Given the description of an element on the screen output the (x, y) to click on. 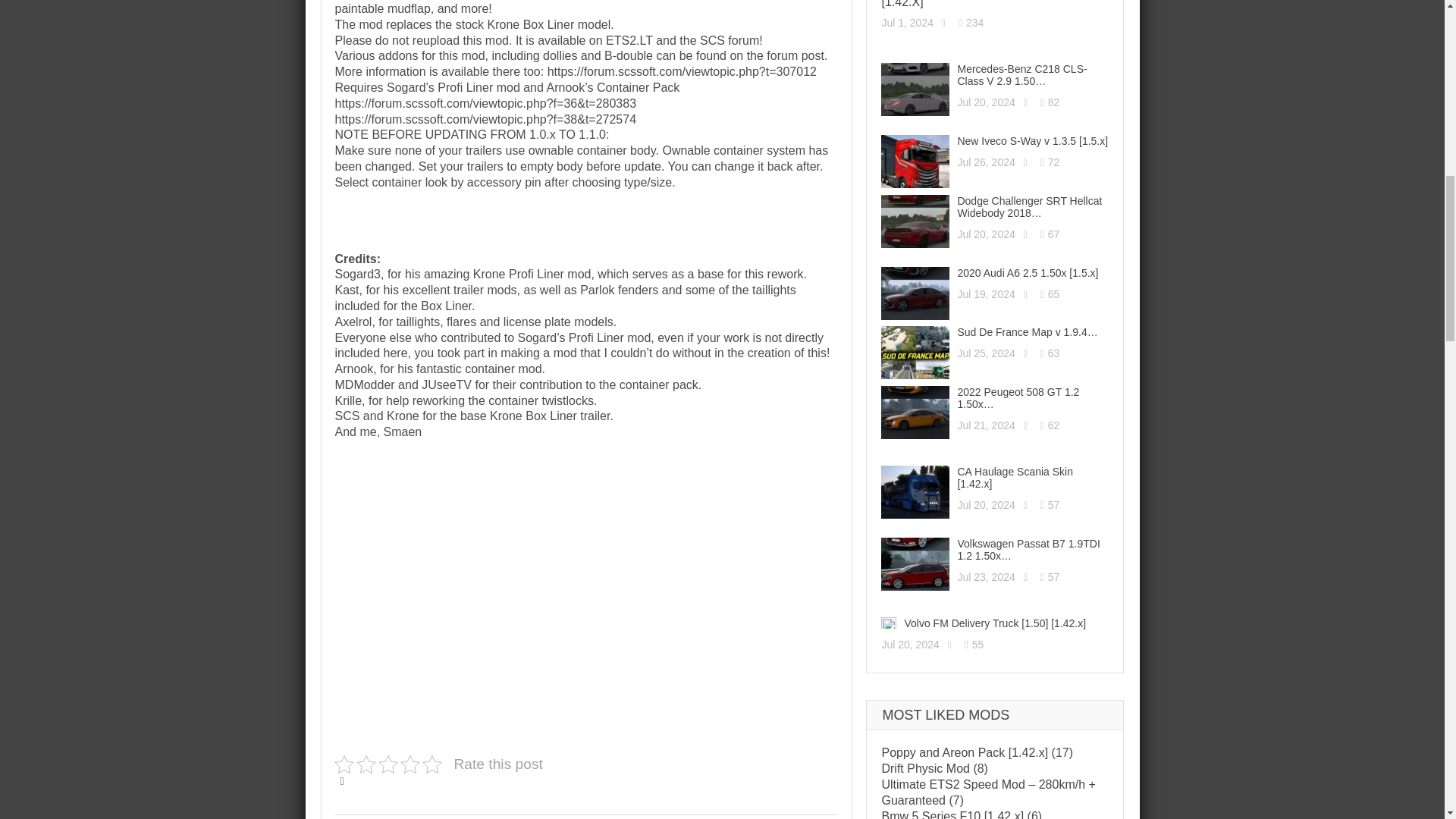
Recommend this (342, 781)
